Given the description of an element on the screen output the (x, y) to click on. 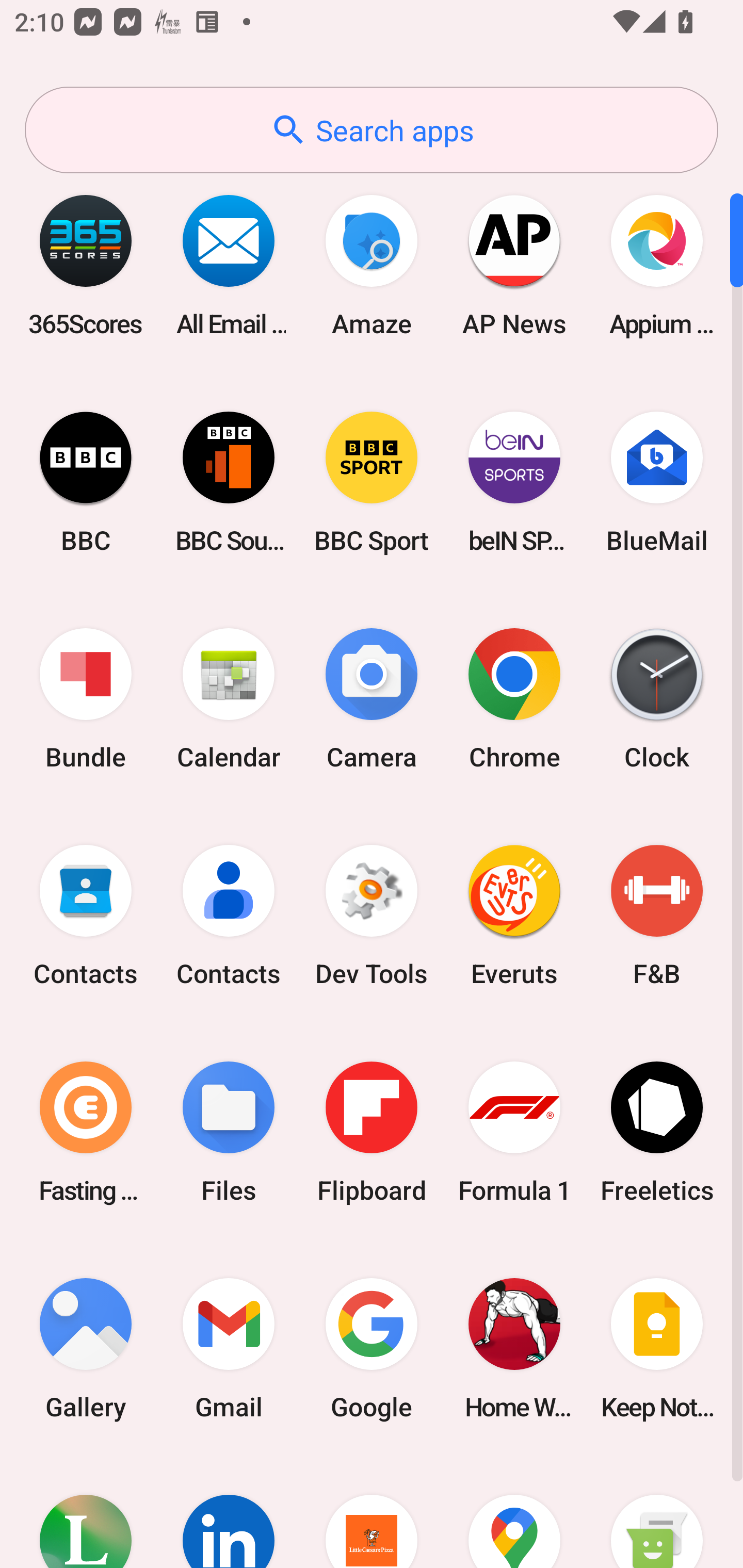
  Search apps (371, 130)
365Scores (85, 264)
All Email Connect (228, 264)
Amaze (371, 264)
AP News (514, 264)
Appium Settings (656, 264)
BBC (85, 482)
BBC Sounds (228, 482)
BBC Sport (371, 482)
beIN SPORTS (514, 482)
BlueMail (656, 482)
Bundle (85, 699)
Calendar (228, 699)
Camera (371, 699)
Chrome (514, 699)
Clock (656, 699)
Contacts (85, 915)
Contacts (228, 915)
Dev Tools (371, 915)
Everuts (514, 915)
F&B (656, 915)
Fasting Coach (85, 1131)
Files (228, 1131)
Flipboard (371, 1131)
Formula 1 (514, 1131)
Freeletics (656, 1131)
Gallery (85, 1348)
Gmail (228, 1348)
Google (371, 1348)
Home Workout (514, 1348)
Keep Notes (656, 1348)
Lifesum (85, 1512)
LinkedIn (228, 1512)
Little Caesars Pizza (371, 1512)
Maps (514, 1512)
Messaging (656, 1512)
